Given the description of an element on the screen output the (x, y) to click on. 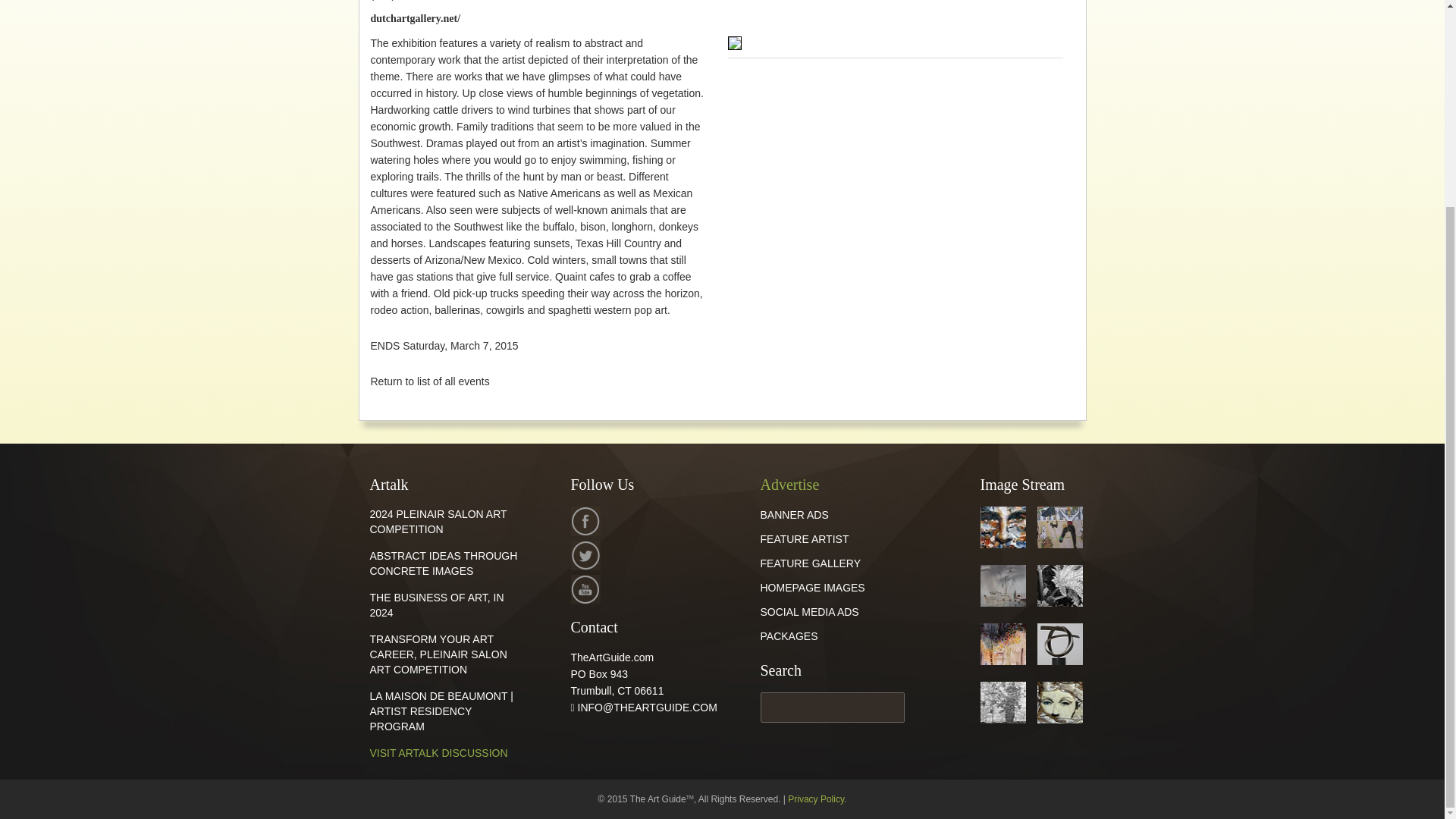
HOMEPAGE IMAGES (812, 587)
FEATURE ARTIST (804, 539)
VISIT ARTALK DISCUSSION (438, 752)
TRANSFORM YOUR ART CAREER, PLEINAIR SALON ART COMPETITION (437, 654)
BANNER ADS (794, 514)
SOCIAL MEDIA ADS (809, 612)
PACKAGES (788, 635)
ABSTRACT IDEAS THROUGH CONCRETE IMAGES (443, 563)
THE BUSINESS OF ART, IN 2024 (436, 605)
2024 PLEINAIR SALON ART COMPETITION (437, 521)
Return to list of all events (429, 381)
FEATURE GALLERY (810, 563)
